Given the description of an element on the screen output the (x, y) to click on. 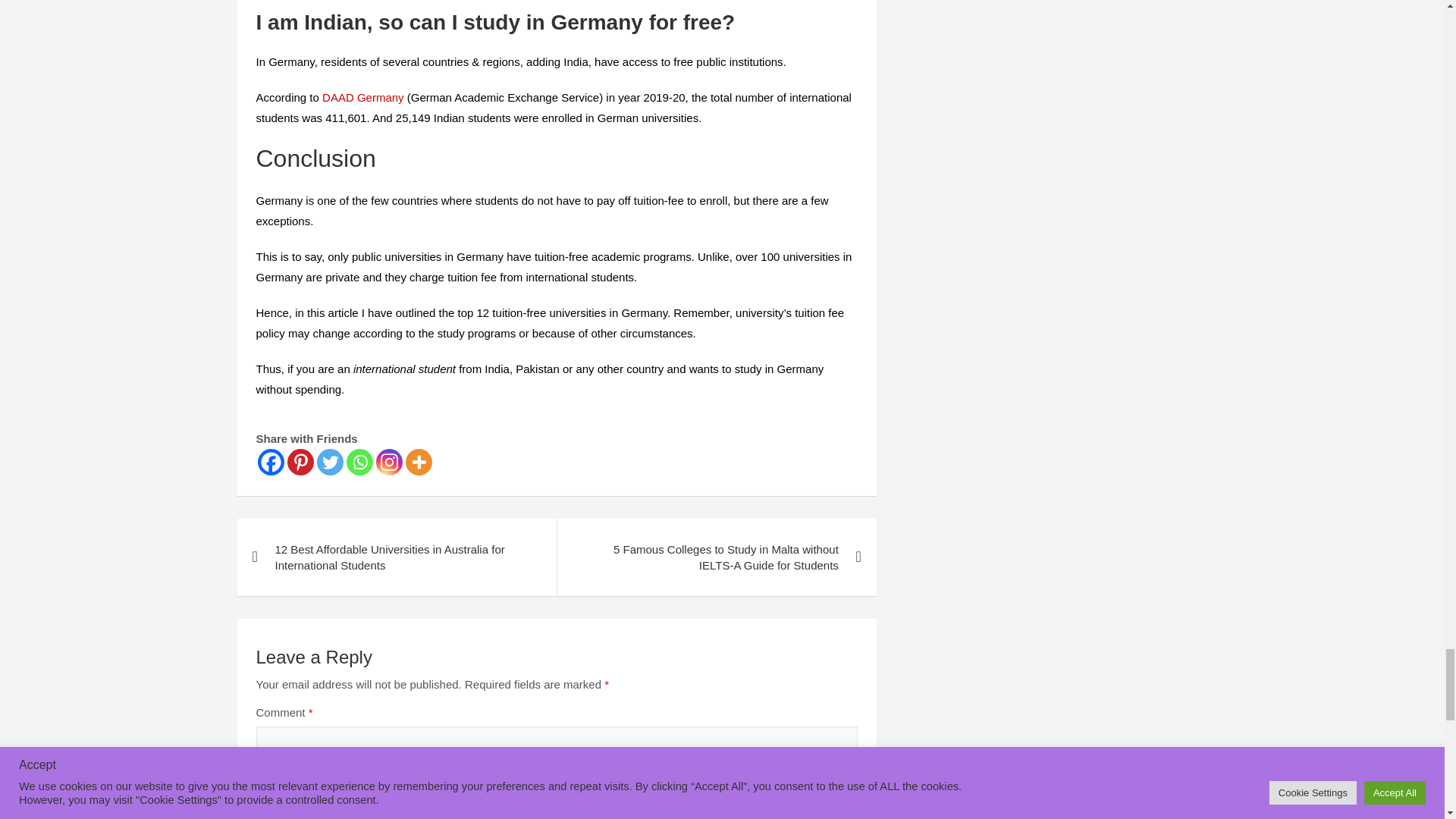
Pinterest (299, 461)
Whatsapp (359, 461)
Facebook (270, 461)
Twitter (330, 461)
